Given the description of an element on the screen output the (x, y) to click on. 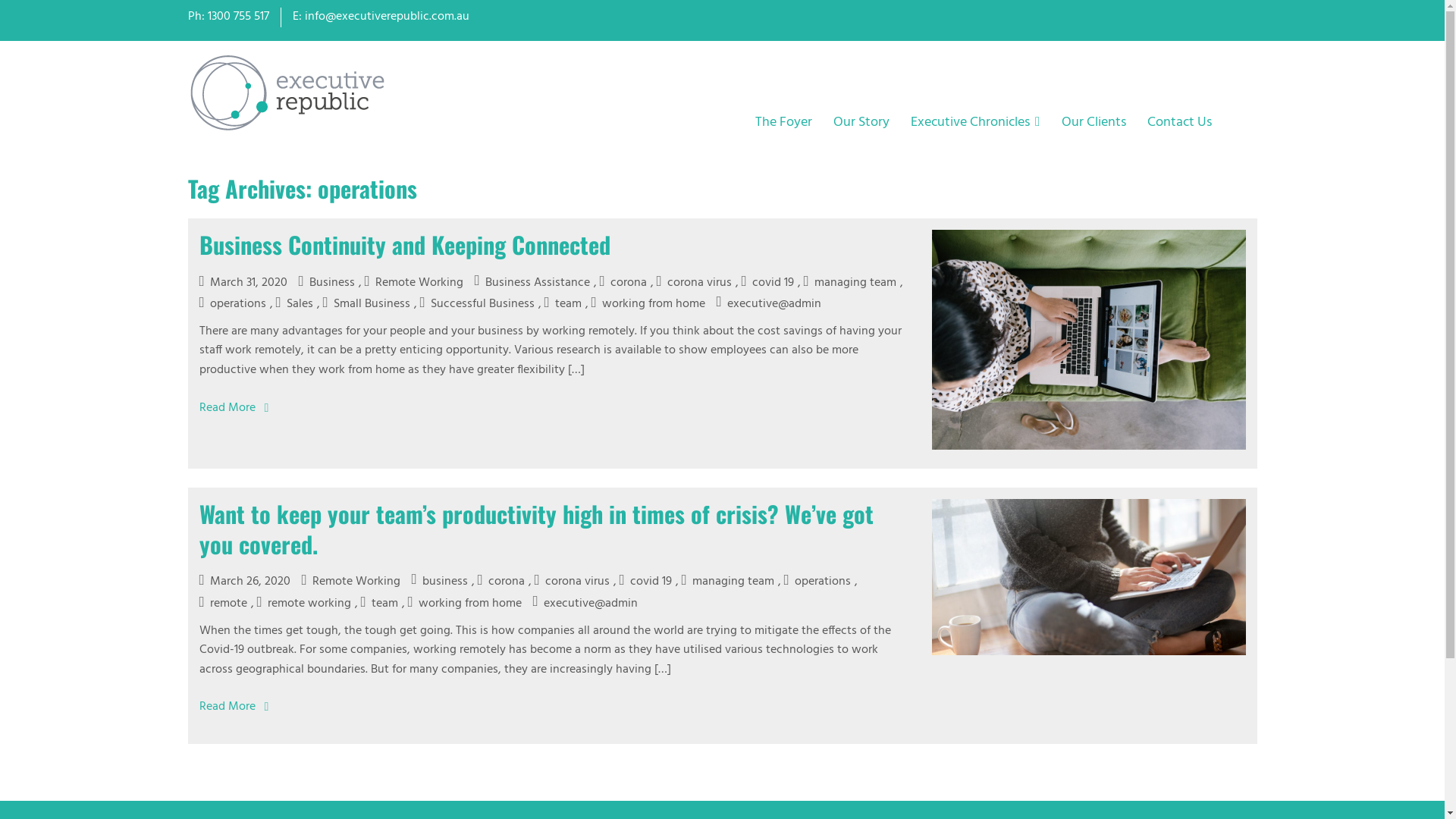
corona Element type: text (500, 581)
Executive Chronicles Element type: text (974, 121)
Sales Element type: text (294, 303)
Successful Business Element type: text (477, 303)
Read Our RSS Feed Element type: hover (1247, 17)
team Element type: text (562, 303)
Back to Executive Republic homepage Element type: hover (289, 93)
covid 19 Element type: text (645, 581)
Follow us on Instagram Element type: hover (1179, 17)
Business Element type: text (326, 282)
remote Element type: text (222, 603)
corona Element type: text (622, 282)
Business Assistance Element type: text (531, 282)
managing team Element type: text (727, 581)
business Element type: text (439, 581)
executive@admin Element type: text (585, 603)
executive@admin Element type: text (768, 303)
working from home Element type: text (464, 603)
March 26, 2020 Element type: text (243, 581)
Business Continuity and Keeping Connected Element type: text (403, 244)
The Foyer Element type: text (783, 122)
Our Story Element type: text (861, 122)
Remote Working Element type: text (413, 282)
managing team Element type: text (849, 282)
Read More Element type: text (227, 706)
working from home Element type: text (648, 303)
Remote Working Element type: text (350, 581)
Like us on Facebook Element type: hover (1156, 17)
E: info@executiverepublic.com.au Element type: text (380, 16)
Ph: 1300 755 517 Element type: text (228, 16)
covid 19 Element type: text (767, 282)
Our Clients Element type: text (1093, 122)
Small Business Element type: text (366, 303)
corona virus Element type: text (693, 282)
View our Youtube channel Element type: hover (1201, 17)
corona virus Element type: text (571, 581)
Read More Element type: text (227, 407)
remote working Element type: text (304, 603)
Join us on Linked-In Element type: hover (1224, 17)
operations Element type: text (231, 303)
March 31, 2020 Element type: text (242, 282)
team Element type: text (379, 603)
Contact Us Element type: text (1178, 122)
operations Element type: text (817, 581)
